Given the description of an element on the screen output the (x, y) to click on. 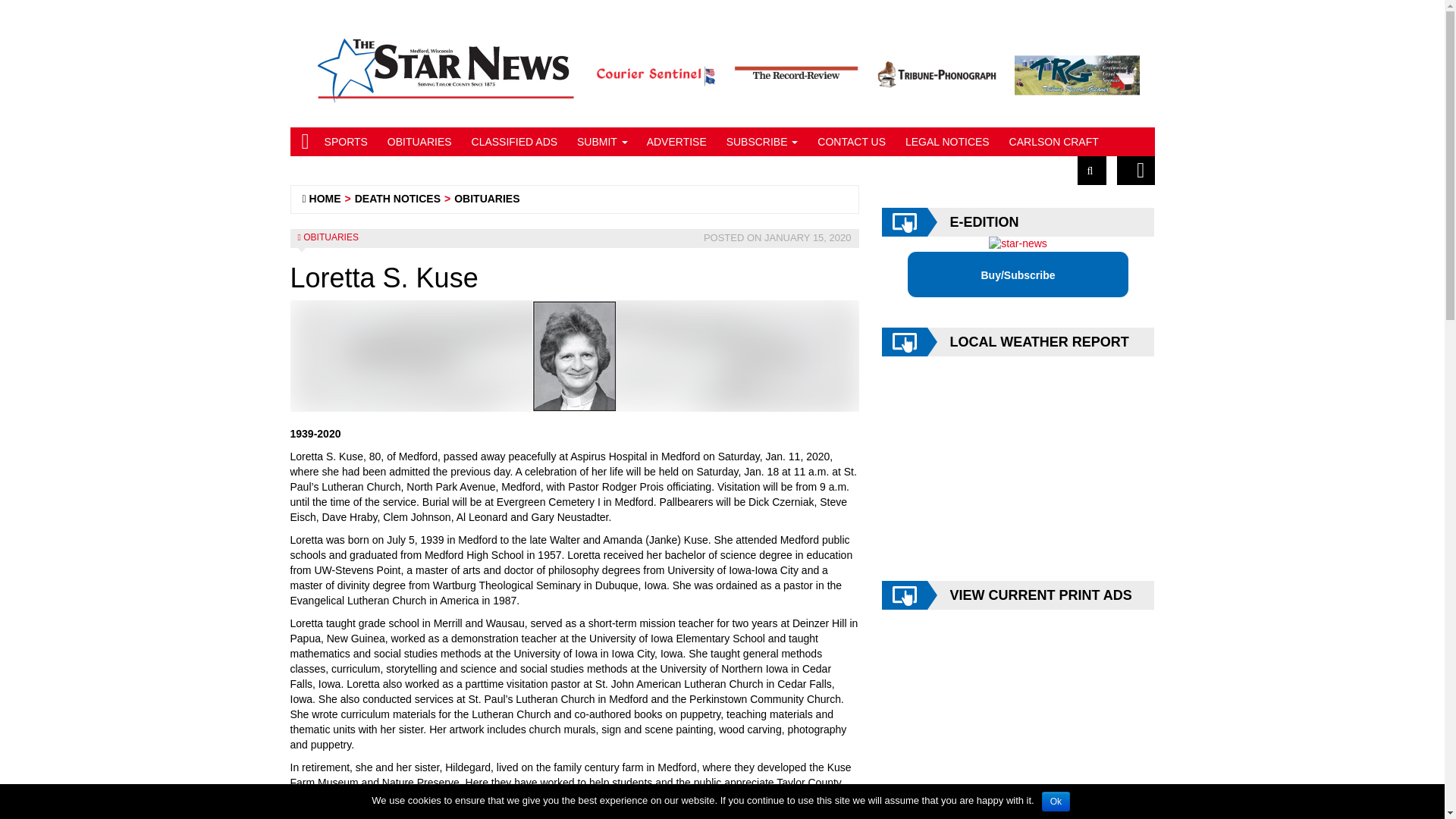
 OBITUARIES (417, 141)
Sports (344, 141)
 CLASSIFIED ADS (513, 141)
Submit (600, 141)
 LEGAL NOTICES (945, 141)
Obituaries (417, 141)
 CONTACT US (849, 141)
 SPORTS (344, 141)
 ADVERTISE (675, 141)
Classified Ads (513, 141)
